Given the description of an element on the screen output the (x, y) to click on. 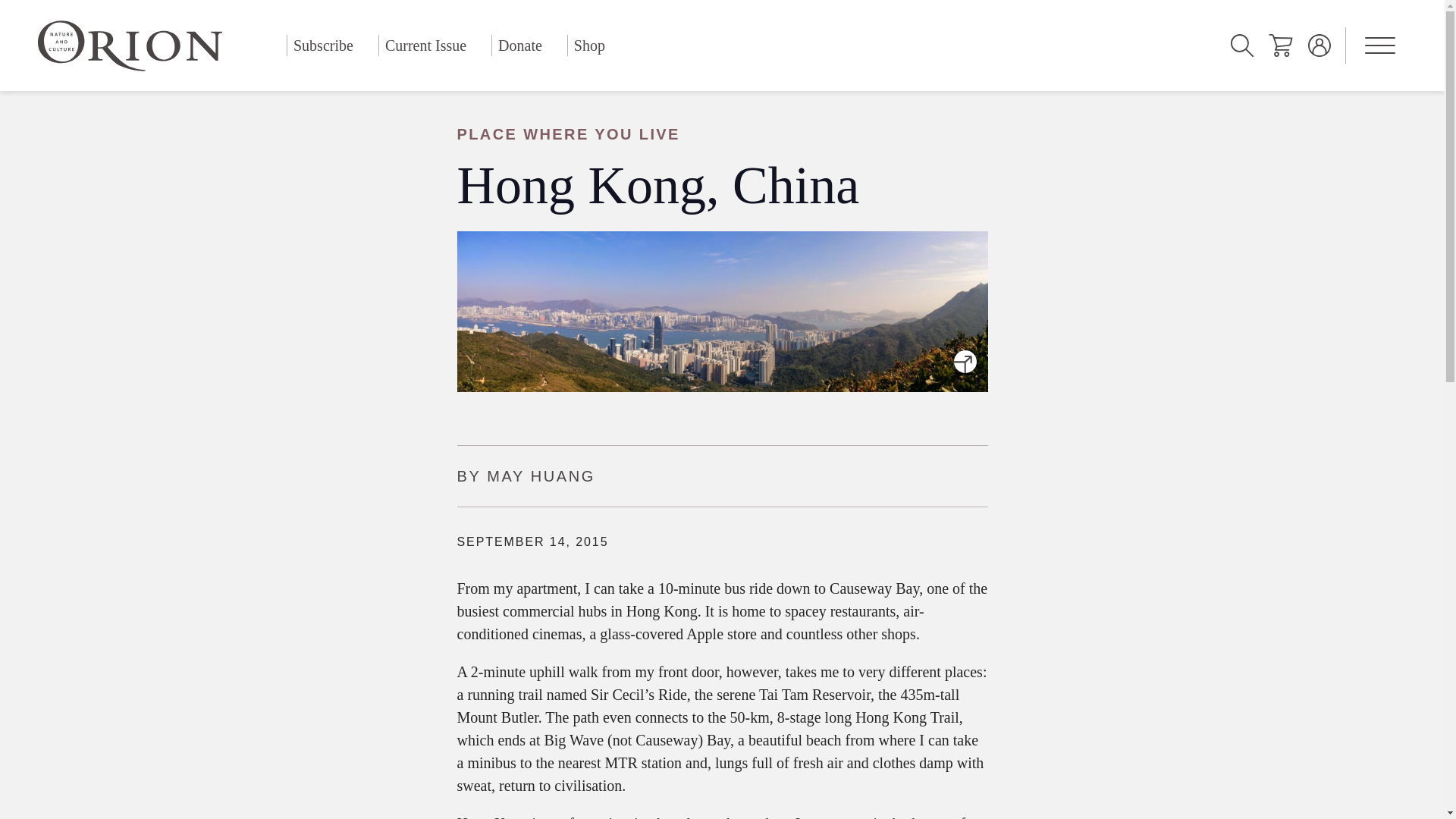
Subscribe (322, 45)
EXPAND IMAGE CAPTION (964, 361)
PLACE WHERE YOU LIVE (721, 134)
Search (1242, 45)
Shop (589, 45)
SEPTEMBER 14, 2015 (532, 541)
Current Issue (424, 45)
Cart (1280, 45)
Donate (520, 45)
Account Dashboard (1319, 45)
